Given the description of an element on the screen output the (x, y) to click on. 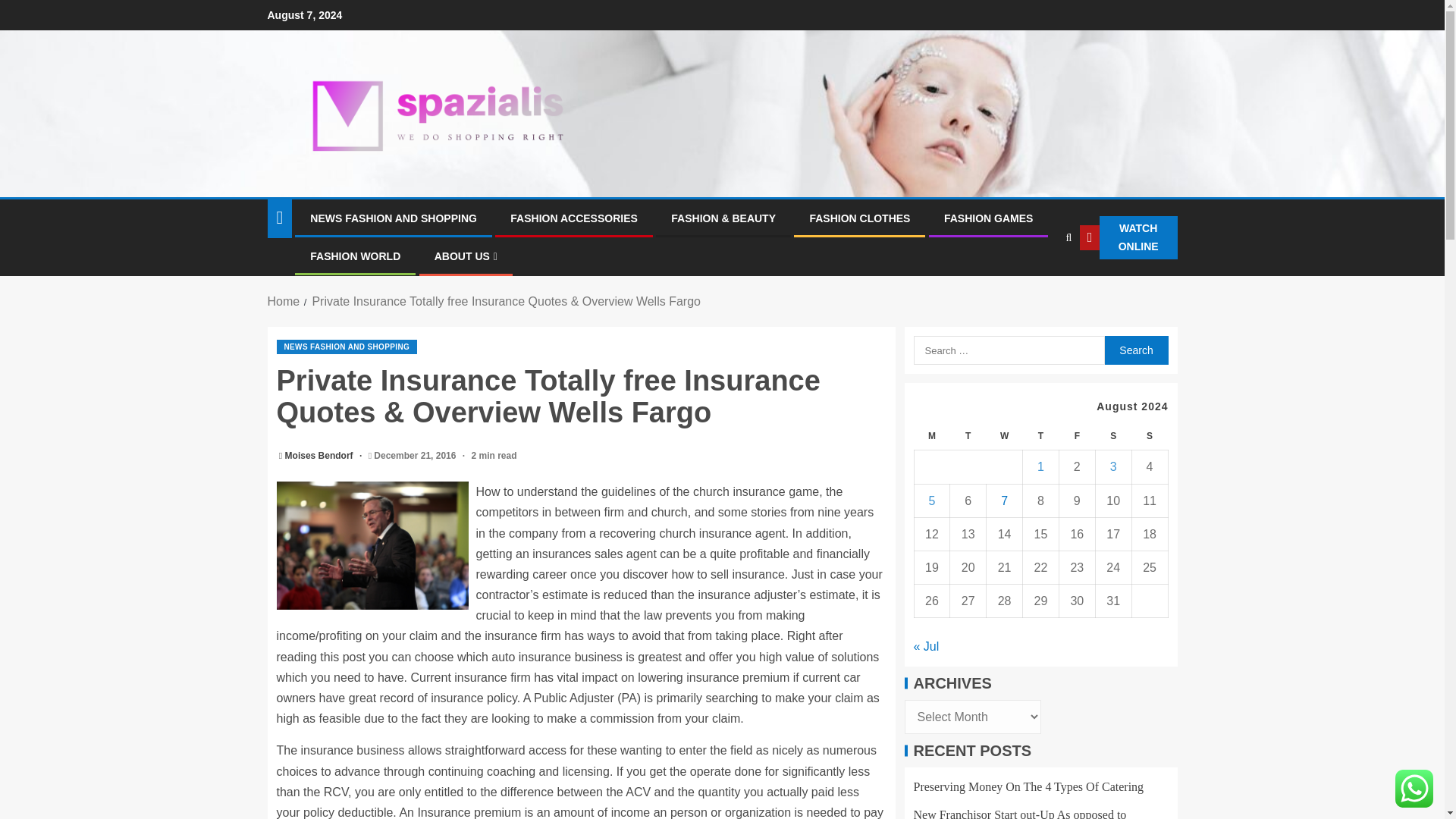
Friday (1076, 436)
Thursday (1041, 436)
ABOUT US (465, 256)
Moises Bendorf (320, 455)
Saturday (1112, 436)
Home (282, 300)
NEWS FASHION AND SHOPPING (393, 218)
Monday (932, 436)
FASHION CLOTHES (859, 218)
Search (1037, 284)
